Given the description of an element on the screen output the (x, y) to click on. 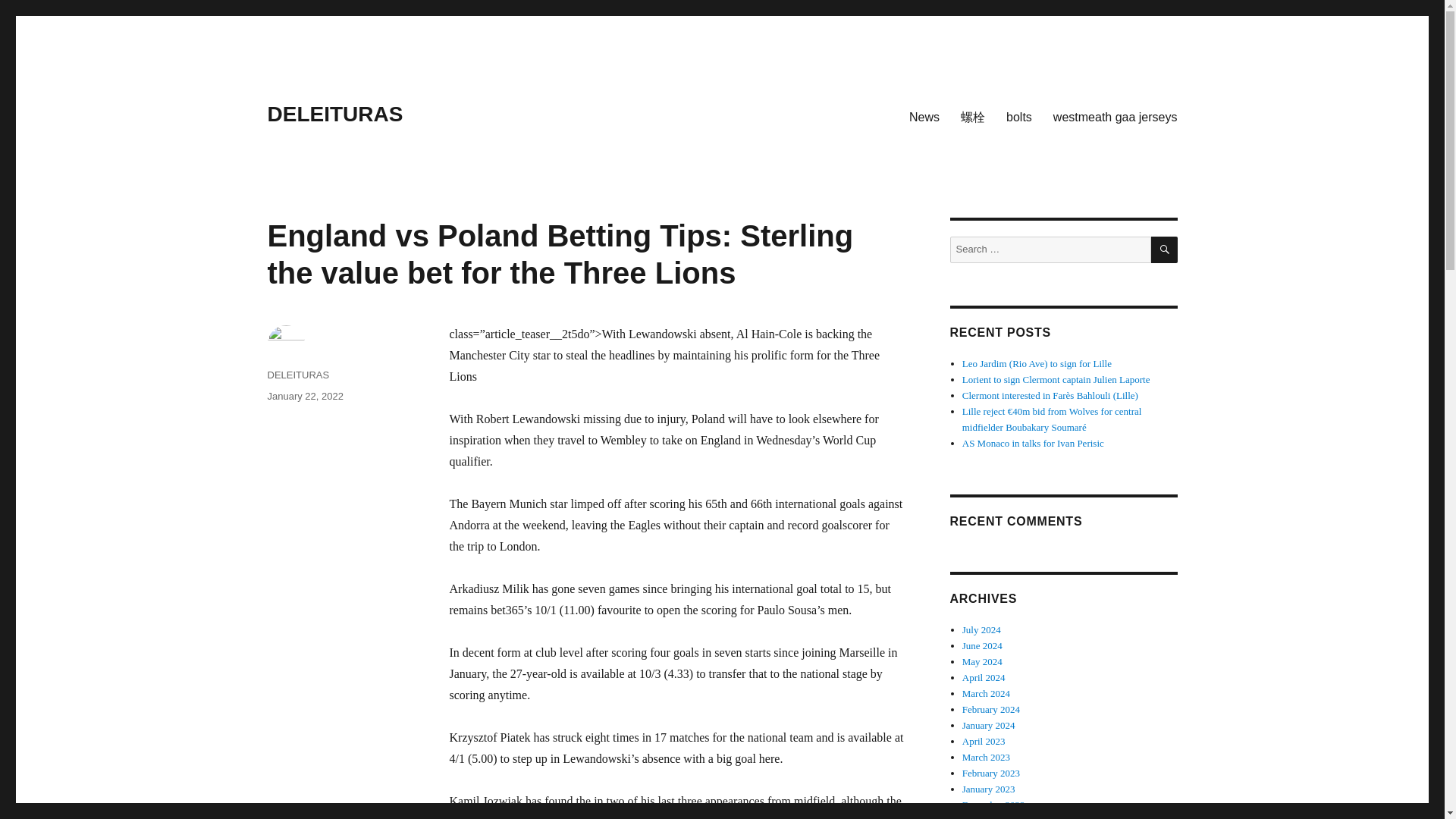
westmeath gaa jerseys (1115, 116)
DELEITURAS (297, 374)
February 2024 (991, 708)
SEARCH (1164, 249)
Lorient to sign Clermont captain Julien Laporte (1056, 378)
April 2024 (984, 677)
AS Monaco in talks for Ivan Perisic (1032, 442)
March 2024 (986, 693)
News (924, 116)
March 2023 (986, 756)
January 22, 2022 (304, 396)
November 2022 (994, 816)
January 2024 (988, 725)
DELEITURAS (334, 114)
July 2024 (981, 629)
